Given the description of an element on the screen output the (x, y) to click on. 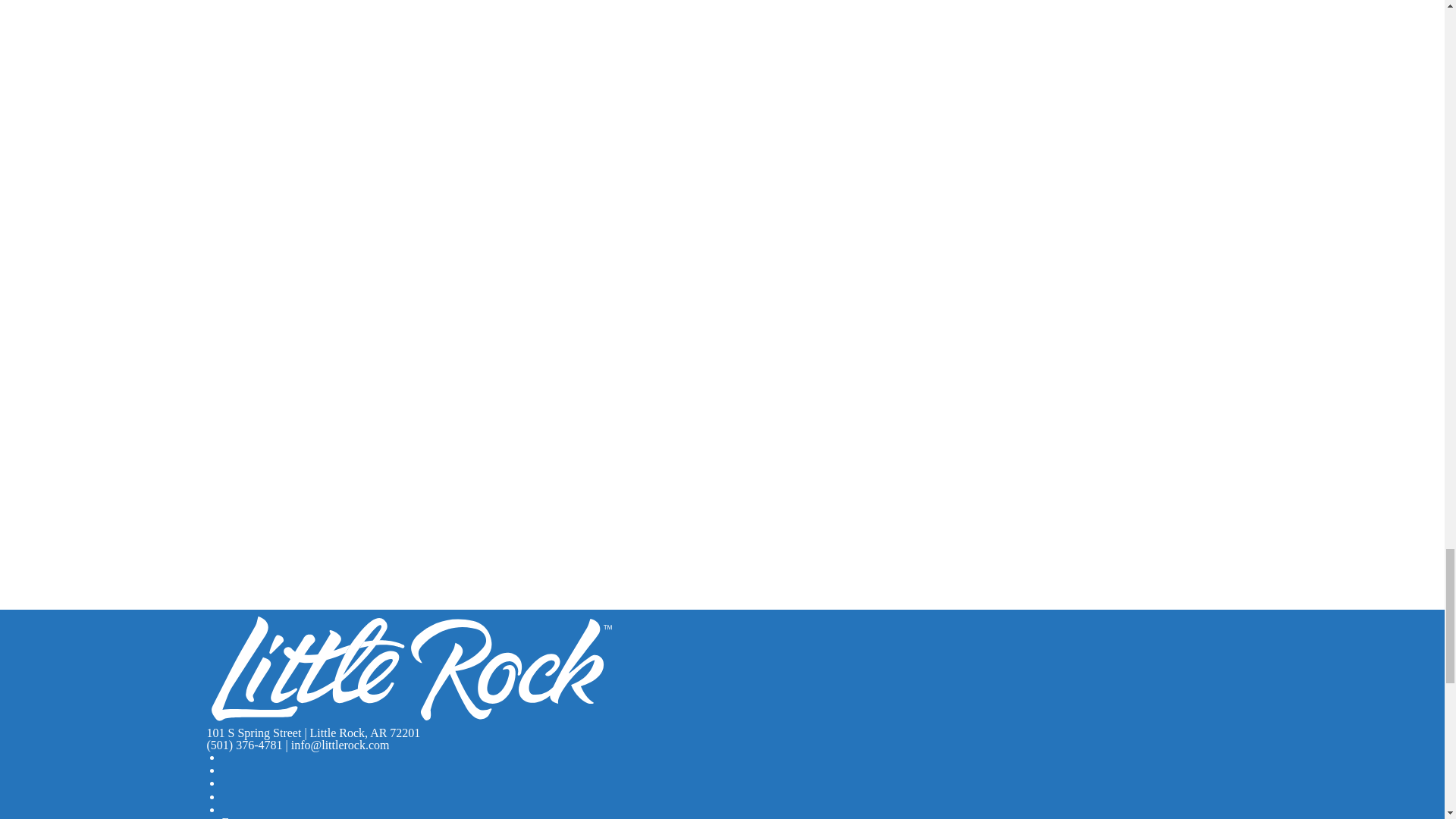
Events (237, 817)
